Given the description of an element on the screen output the (x, y) to click on. 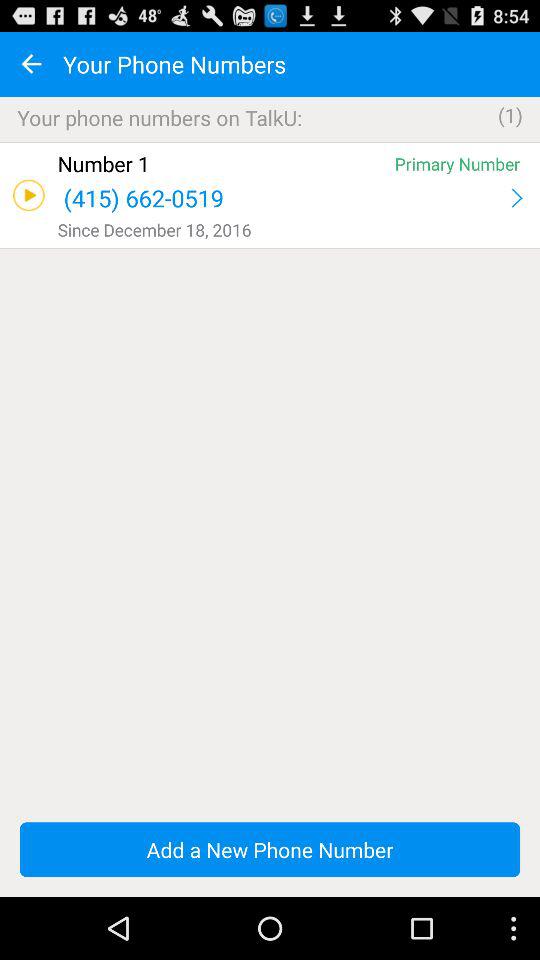
flip until the since december 18 (291, 229)
